Given the description of an element on the screen output the (x, y) to click on. 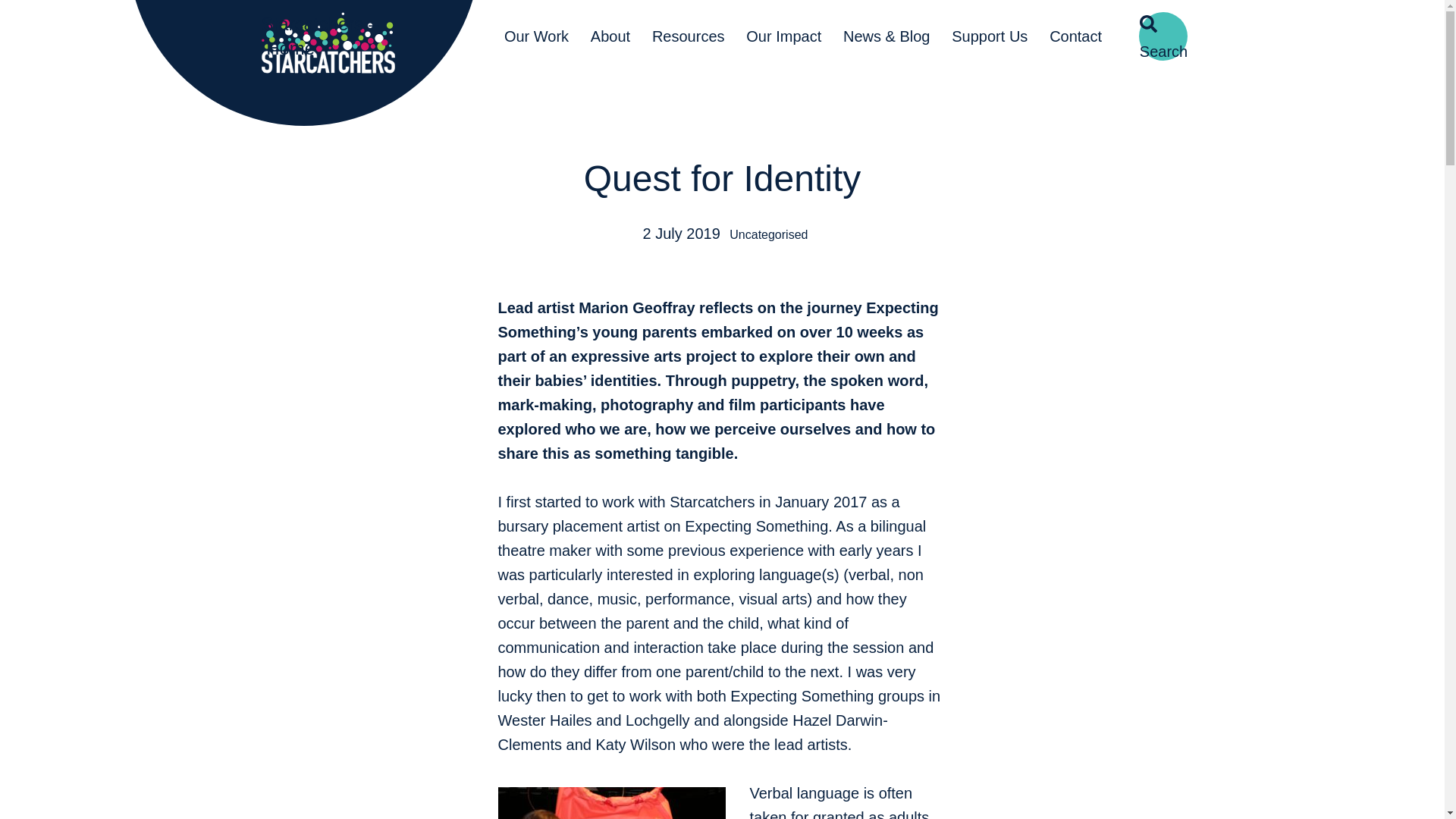
Support Us (989, 36)
Search (1163, 36)
About (609, 36)
Contact (1076, 36)
search (1163, 36)
Our Work (536, 36)
Our Impact (783, 36)
Resources (688, 36)
